Given the description of an element on the screen output the (x, y) to click on. 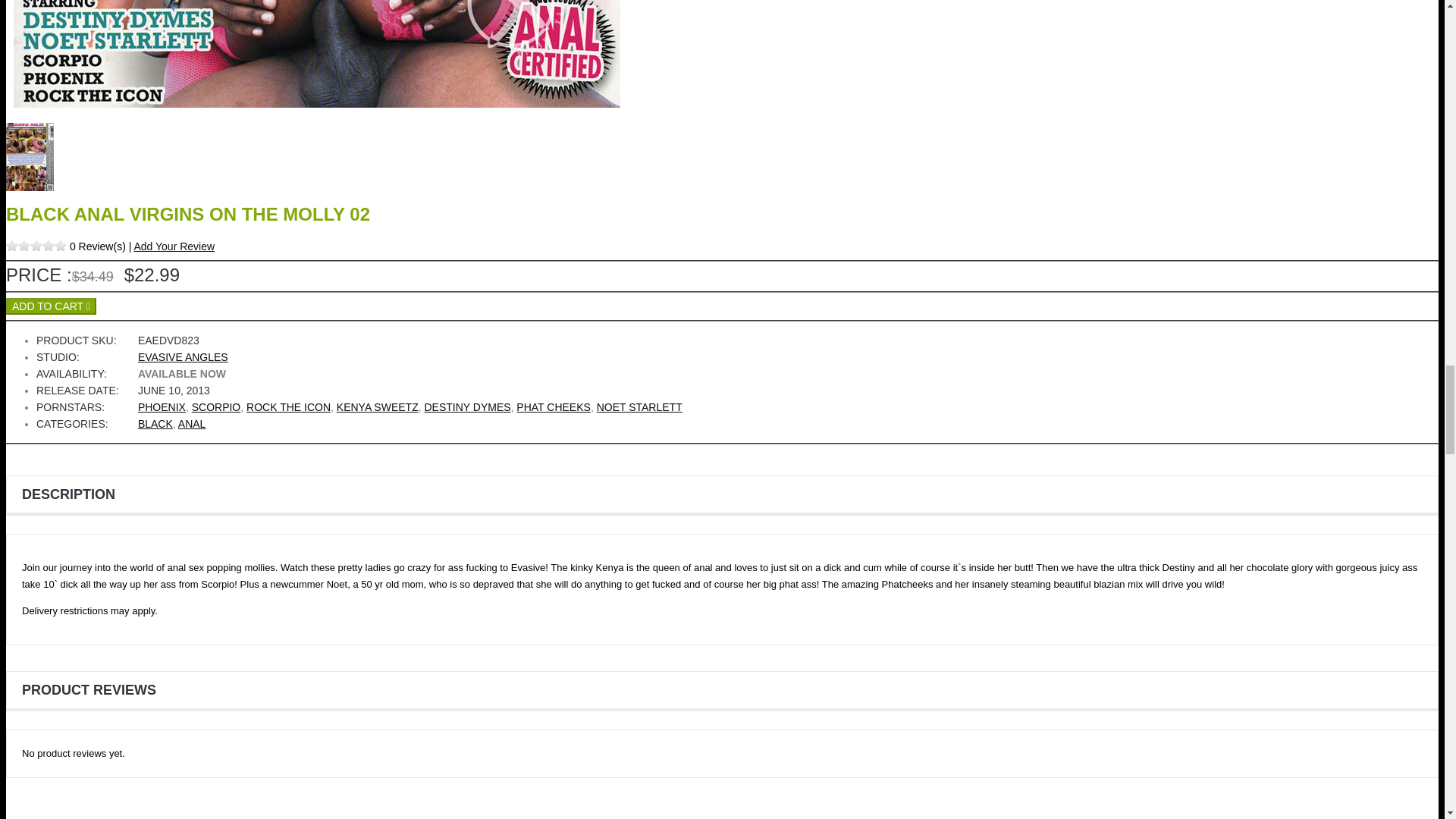
Black (155, 423)
Anal (191, 423)
Noet Starlett (639, 407)
Phat Cheeks (553, 407)
Destiny Dymes (467, 407)
Black Anal Virgins On The Molly 02 (316, 103)
Evasive Angles (183, 357)
Rock The Icon (288, 407)
Black Anal Virgins On The Molly 02 (29, 186)
Kenya Sweetz (377, 407)
Scorpio (216, 407)
Phoenix (162, 407)
